Given the description of an element on the screen output the (x, y) to click on. 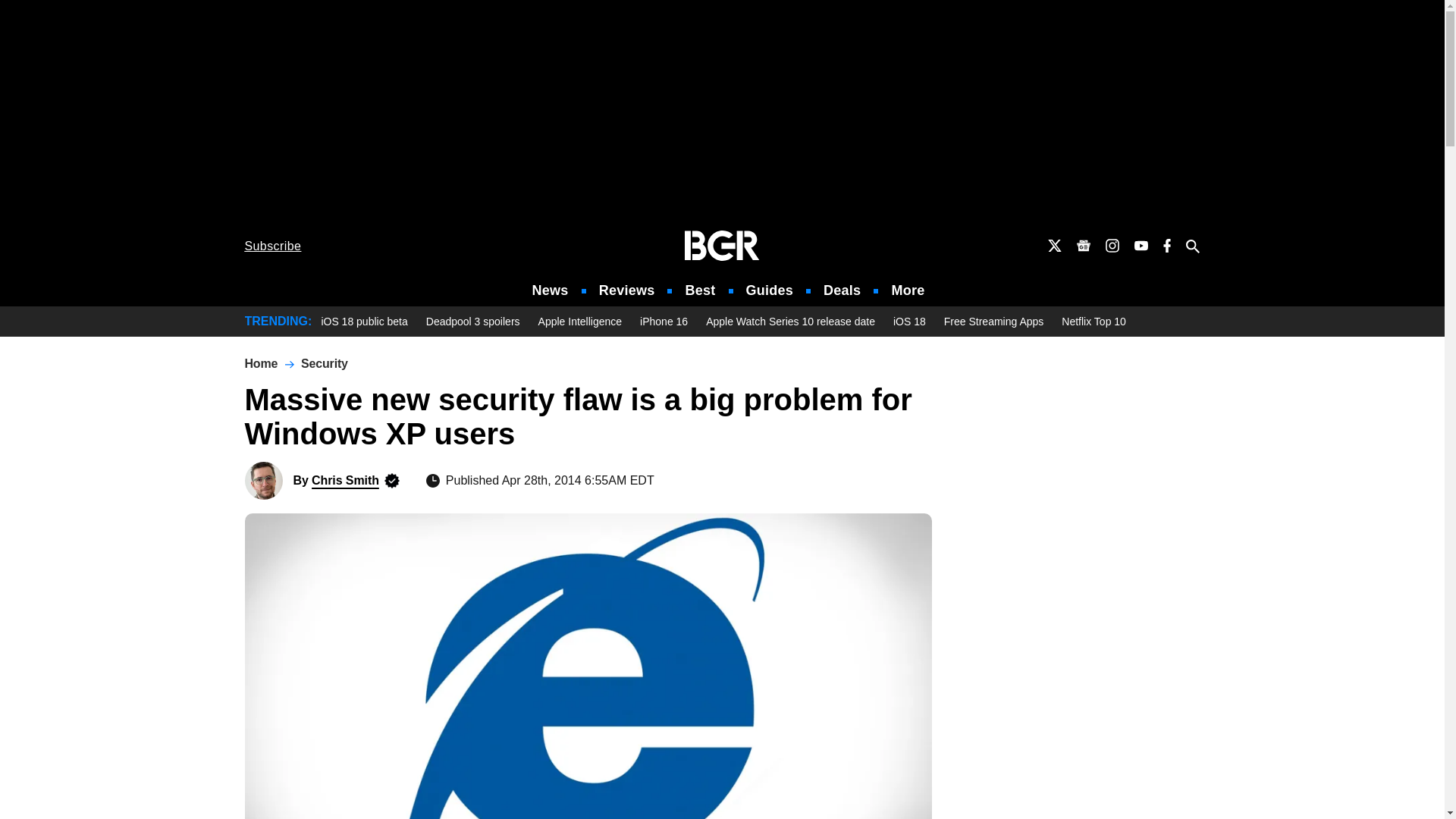
Deals (842, 290)
Posts by Chris Smith (344, 480)
News (550, 290)
Best (699, 290)
Subscribe (272, 245)
More (907, 290)
Guides (769, 290)
Reviews (626, 290)
